Given the description of an element on the screen output the (x, y) to click on. 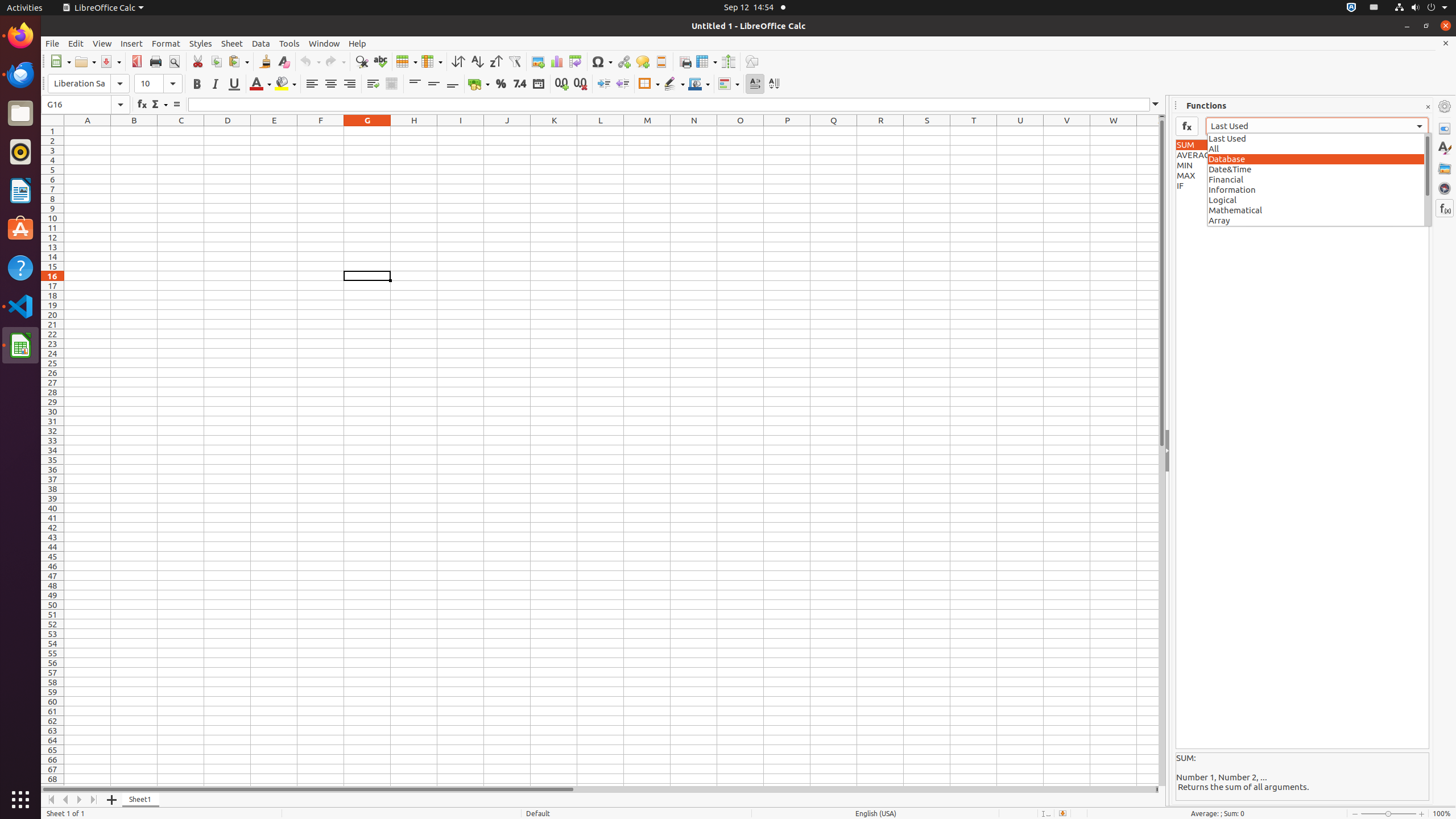
Comment Element type: push-button (642, 61)
V1 Element type: table-cell (1066, 130)
New Element type: push-button (59, 61)
H1 Element type: table-cell (413, 130)
